Given the description of an element on the screen output the (x, y) to click on. 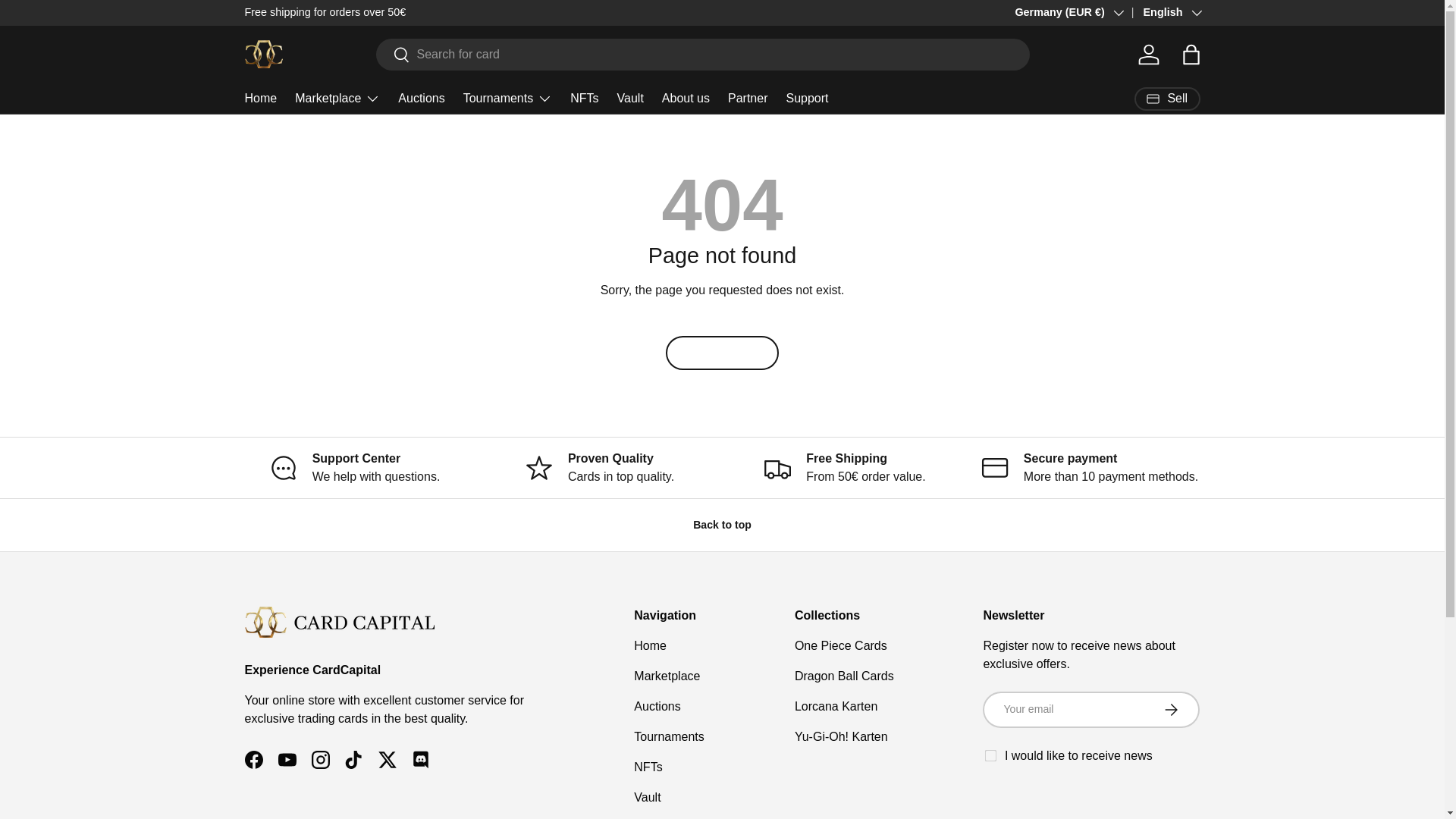
Vault (630, 98)
About us (686, 98)
Bag (1190, 54)
Home (260, 98)
Partner (747, 98)
CardCapital on Facebook (252, 759)
Instagram (1194, 11)
Auctions (420, 98)
Tournaments (508, 98)
Skip to content (69, 21)
CardCapital on Instagram (319, 759)
CardCapital on Discord (419, 759)
NFTs (584, 98)
Search (392, 55)
English (1160, 12)
